Given the description of an element on the screen output the (x, y) to click on. 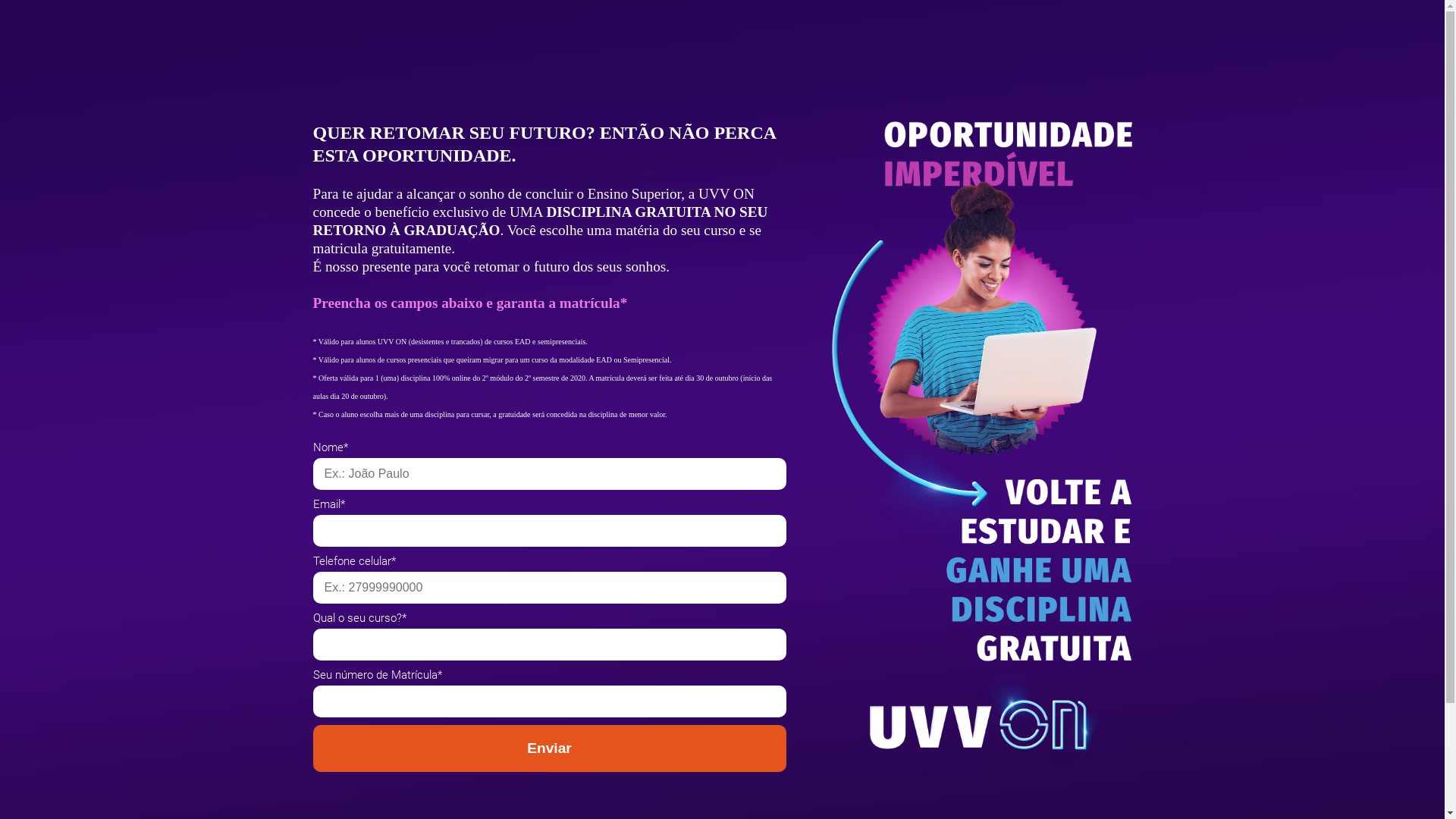
Enviar Element type: text (548, 747)
